Given the description of an element on the screen output the (x, y) to click on. 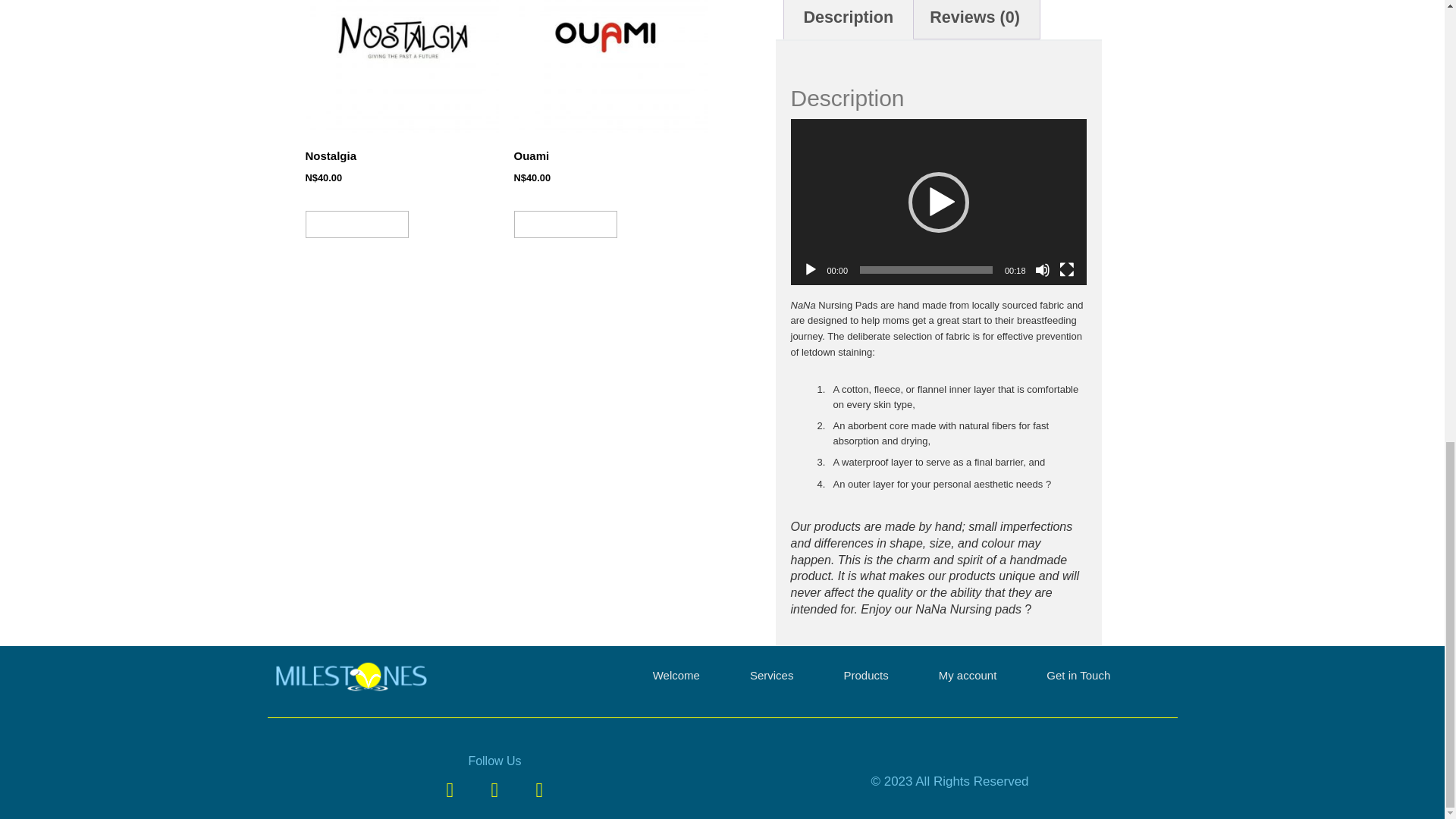
Play (809, 269)
Mute (1041, 269)
Description (849, 19)
Add to basket (356, 224)
Add to basket (565, 224)
Fullscreen (1066, 269)
